Given the description of an element on the screen output the (x, y) to click on. 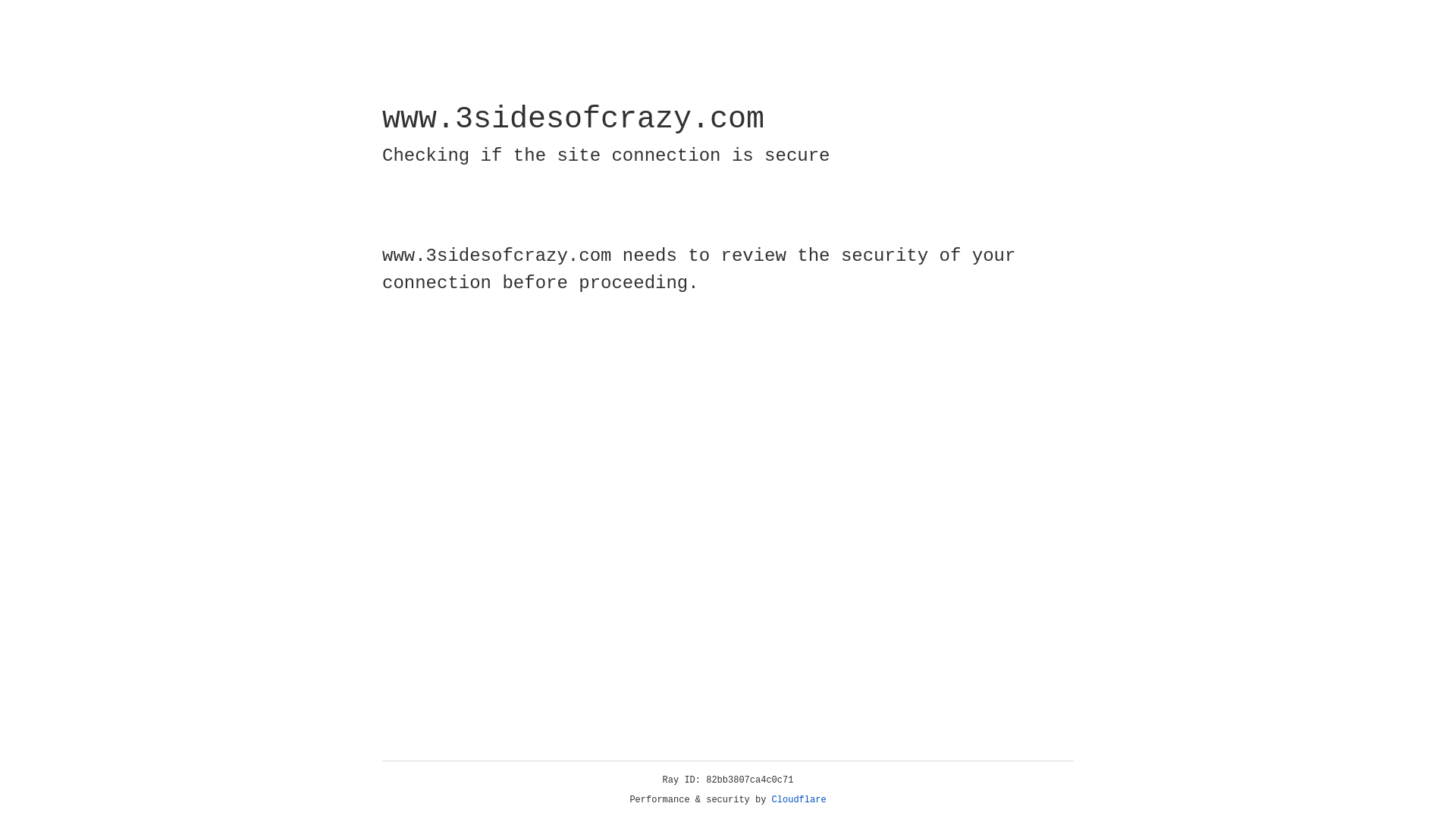
Cloudflare Element type: text (798, 799)
